Given the description of an element on the screen output the (x, y) to click on. 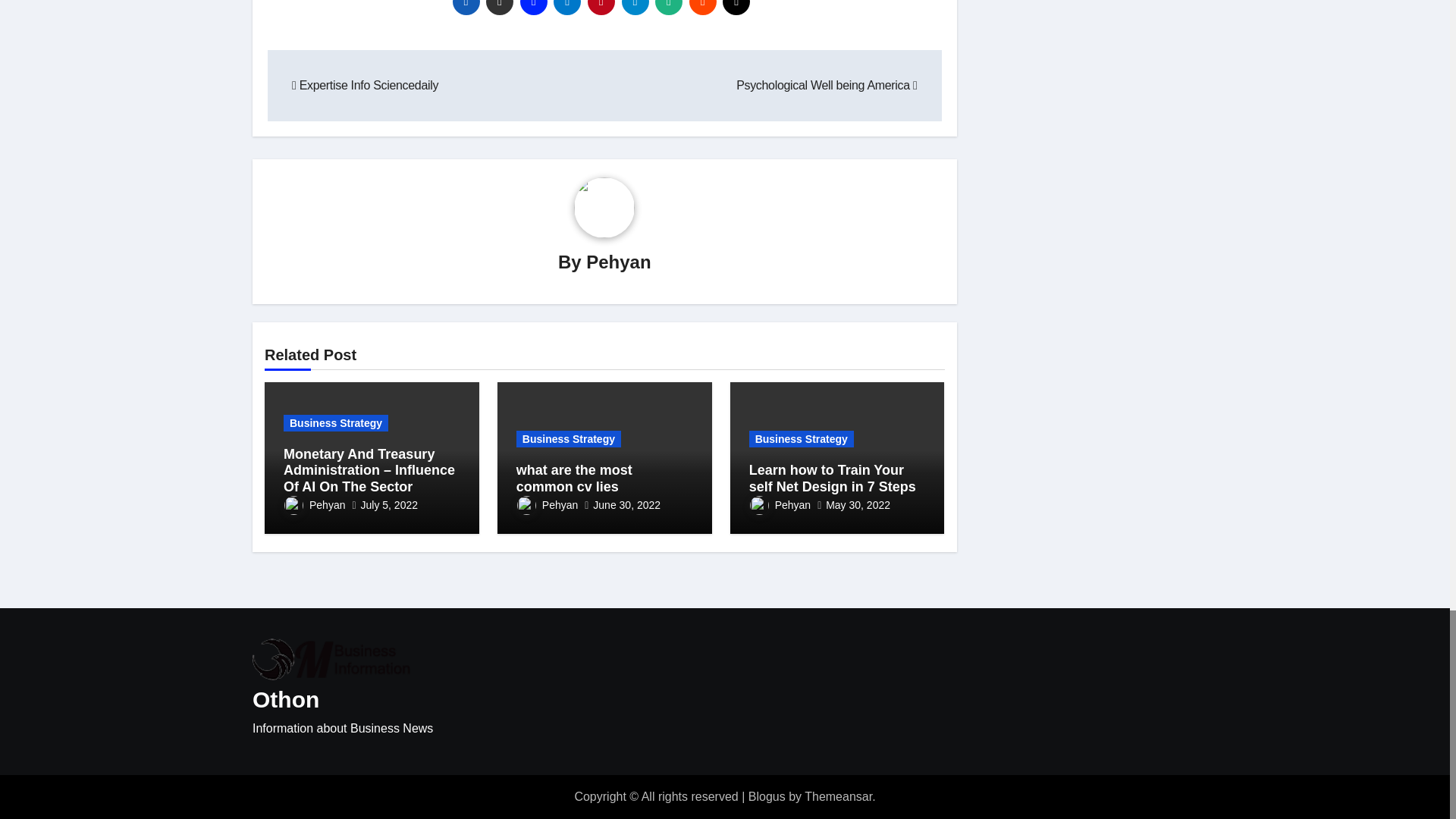
Permalink to: what are the most common cv lies (573, 478)
Psychological Well being America (826, 84)
Expertise Info Sciencedaily (365, 84)
